Given the description of an element on the screen output the (x, y) to click on. 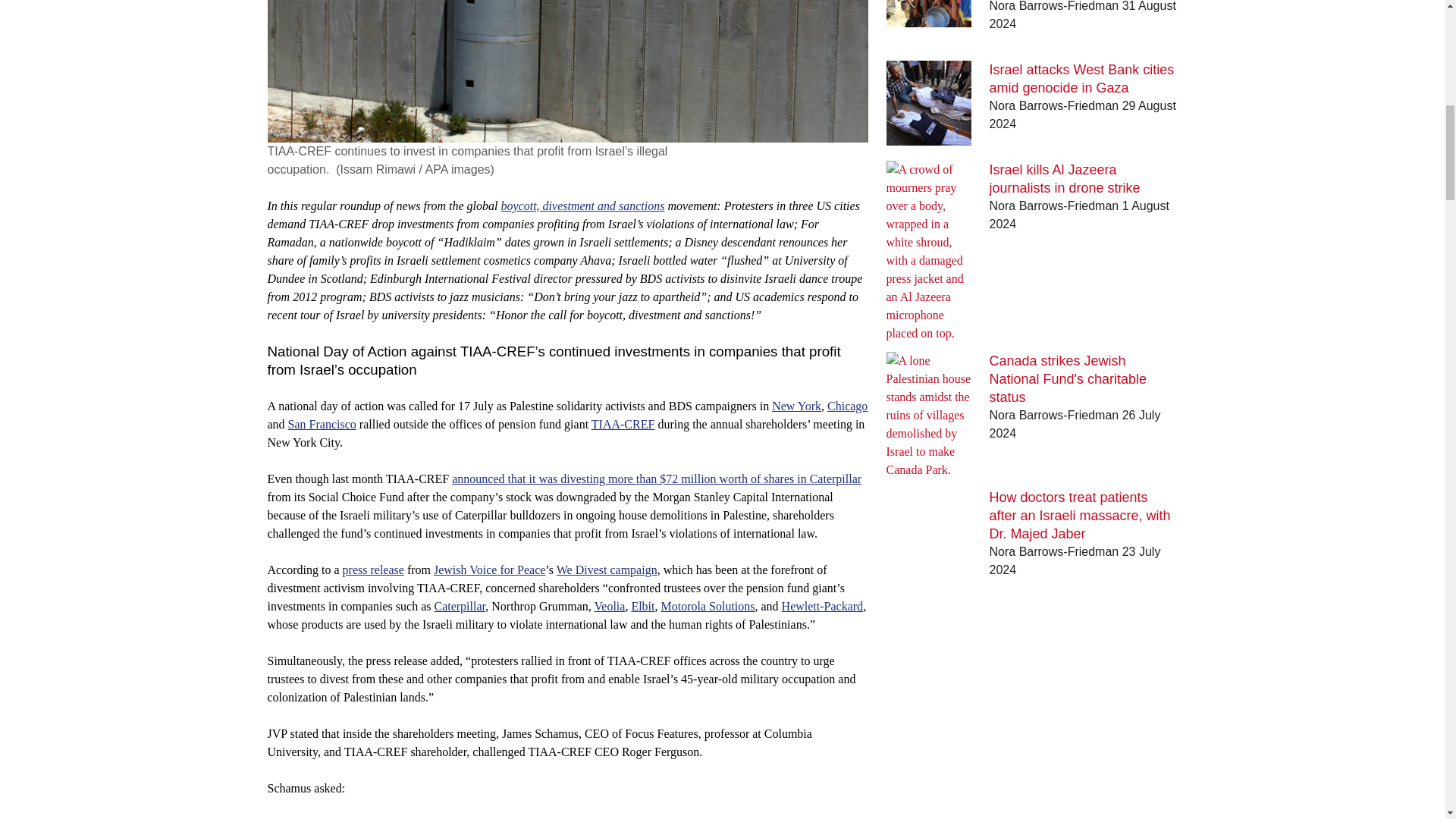
boycott, divestment and sanctions (581, 205)
TIAA-CREF (623, 423)
Motorola Solutions (707, 605)
New York (796, 405)
San Francisco (322, 423)
Caterpillar (458, 605)
Hewlett-Packard (822, 605)
We Divest campaign (607, 569)
Elbit (641, 605)
Veolia (610, 605)
